Given the description of an element on the screen output the (x, y) to click on. 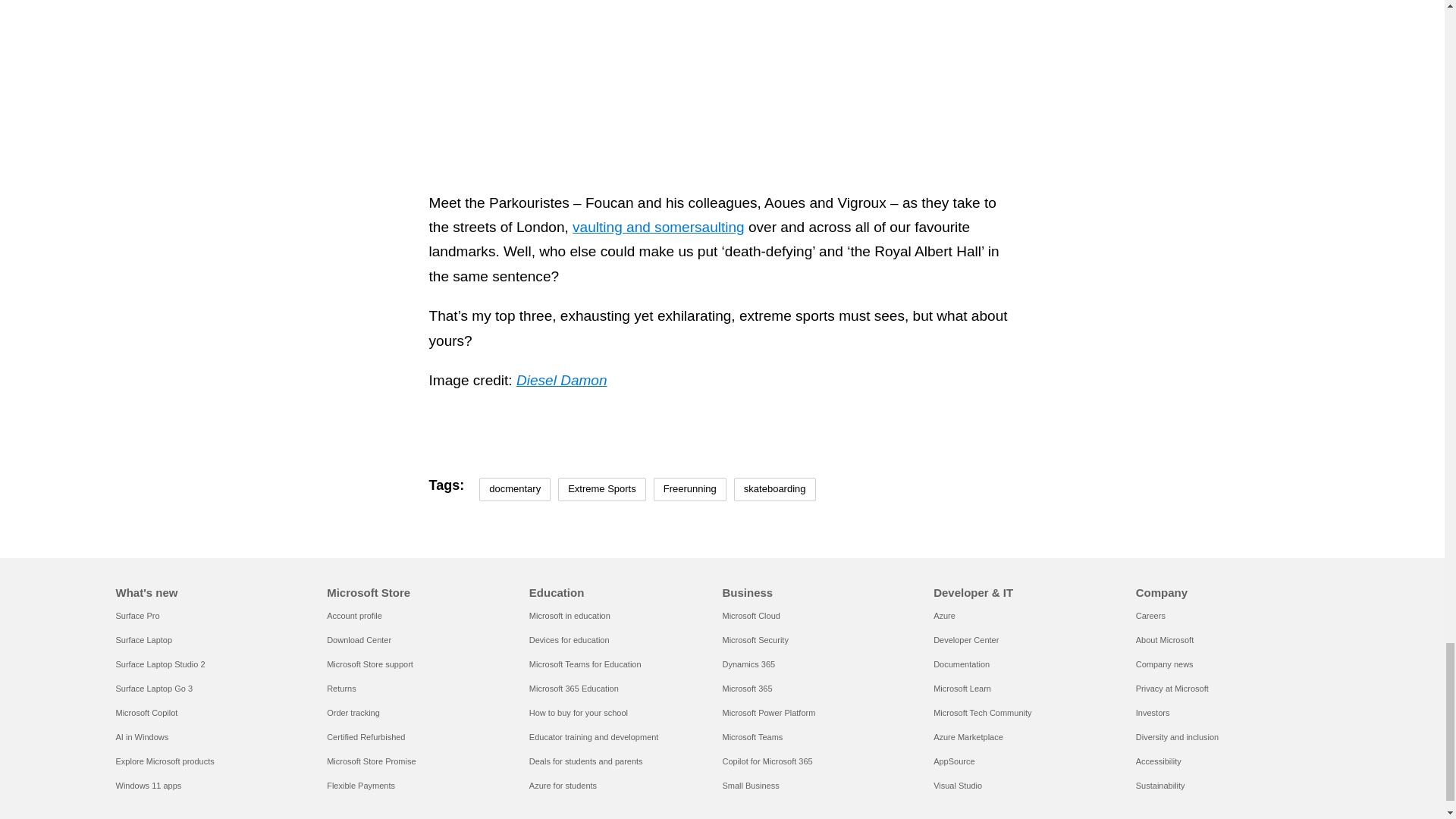
docmentary Tag (514, 489)
jump-london (721, 52)
skateboarding Tag (774, 489)
Freerunning Tag (689, 489)
Extreme Sports Tag (601, 489)
